Given the description of an element on the screen output the (x, y) to click on. 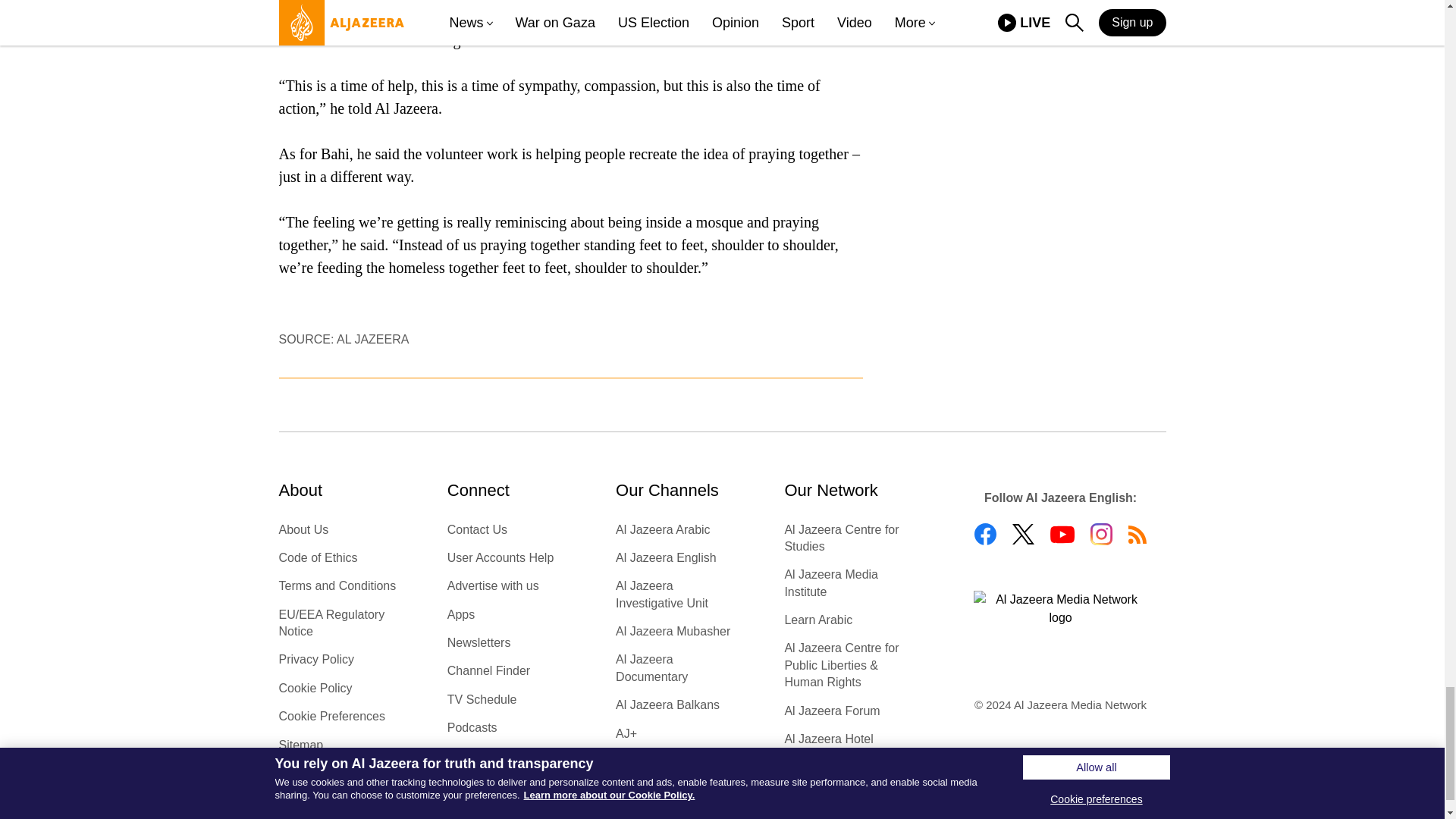
instagram-colored-outline (1101, 534)
twitter (1022, 534)
facebook (984, 534)
rss (1137, 534)
youtube (1061, 534)
